Given the description of an element on the screen output the (x, y) to click on. 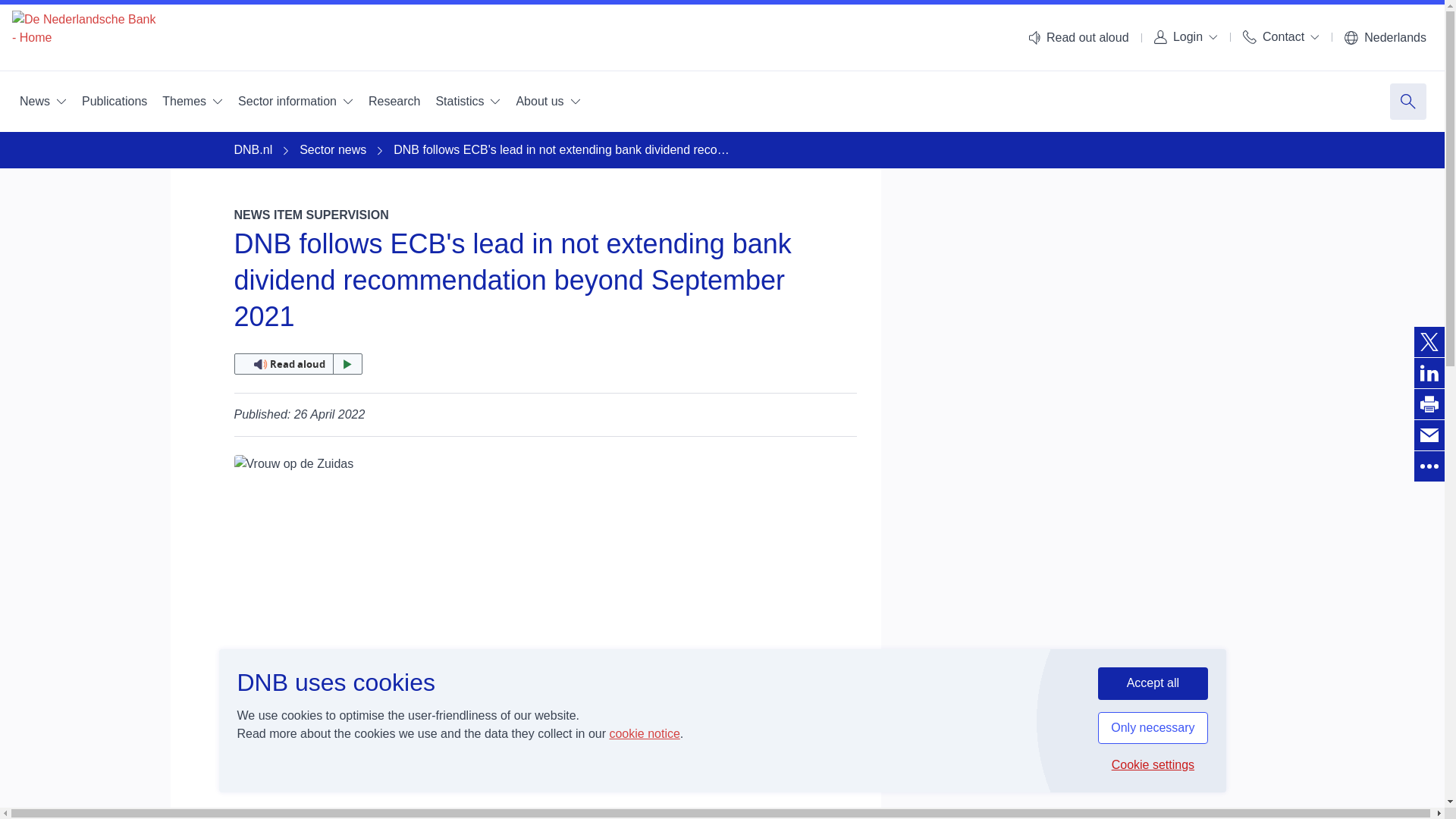
Publications (113, 101)
Read out aloud (1078, 37)
Contact (1280, 36)
News (42, 101)
Read out aloud (296, 363)
Nederlands (1385, 37)
De Nederlandsche Bank - Home (83, 37)
Login (1186, 36)
